Given the description of an element on the screen output the (x, y) to click on. 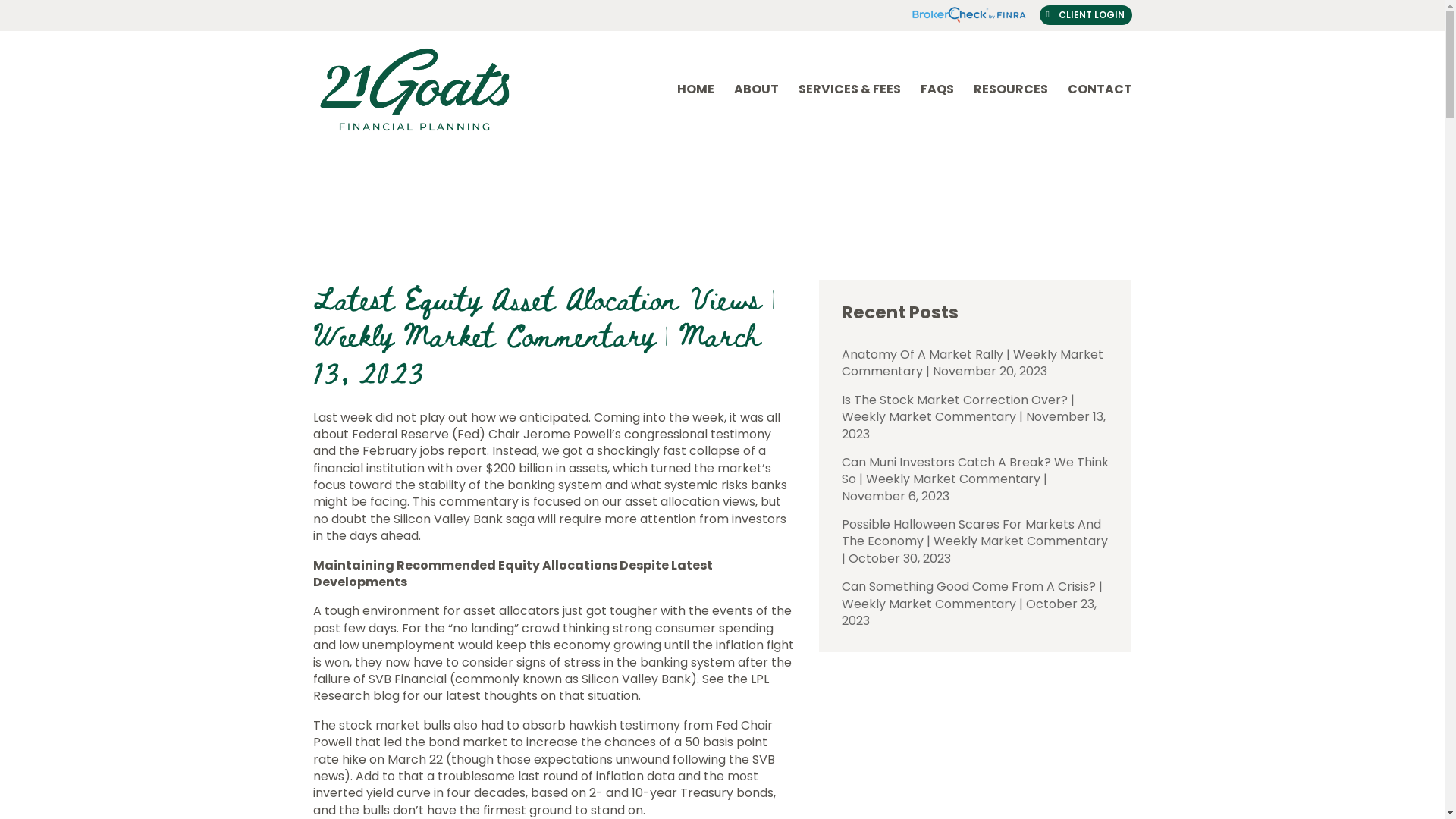
HOME Element type: text (694, 108)
CLIENT LOGIN Element type: text (1084, 15)
ABOUT Element type: text (756, 108)
CONTACT Element type: text (1099, 108)
RESOURCES Element type: text (1010, 108)
FAQS Element type: text (936, 108)
SERVICES & FEES Element type: text (848, 108)
